Given the description of an element on the screen output the (x, y) to click on. 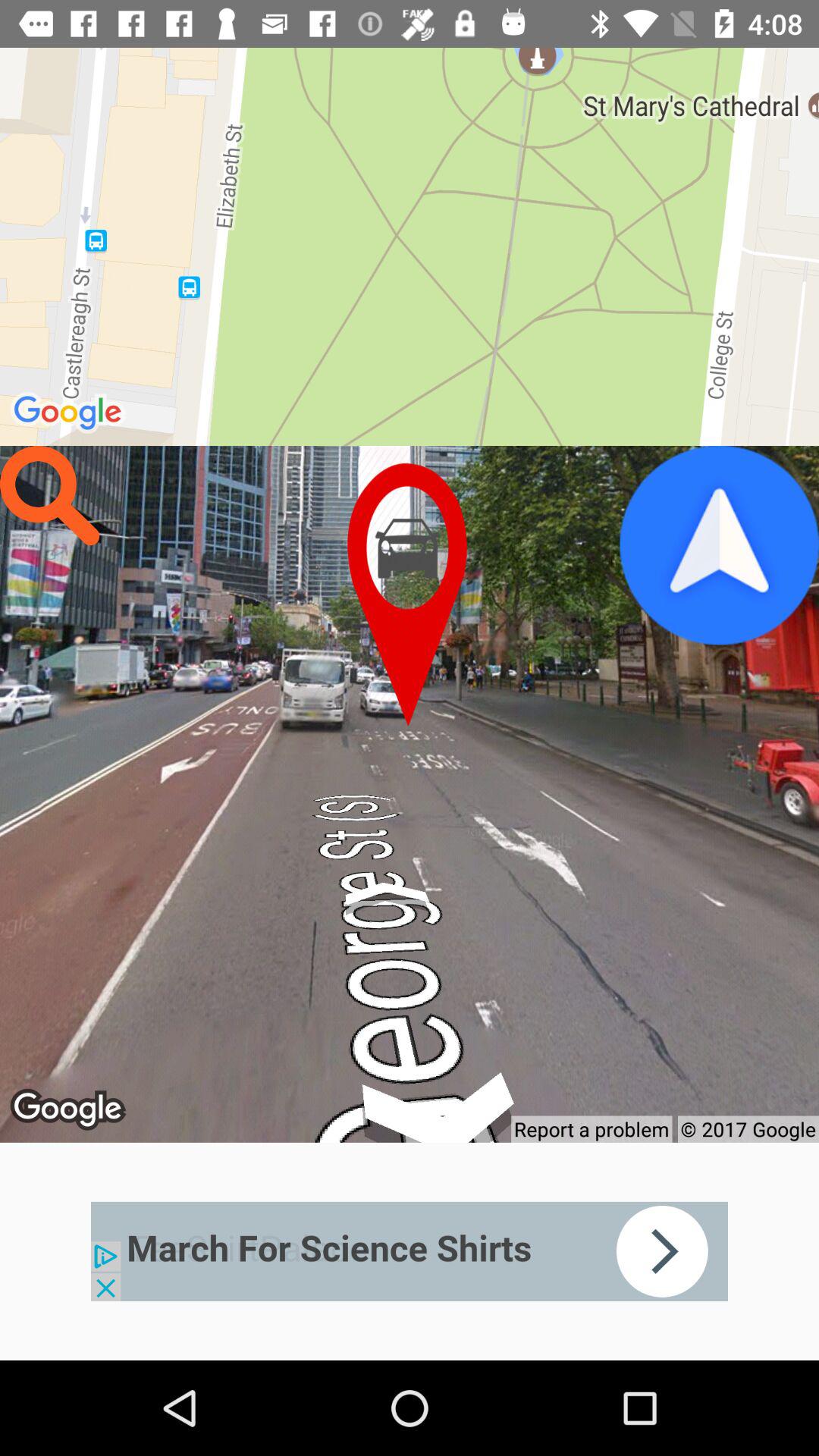
arrow sympol (719, 544)
